Given the description of an element on the screen output the (x, y) to click on. 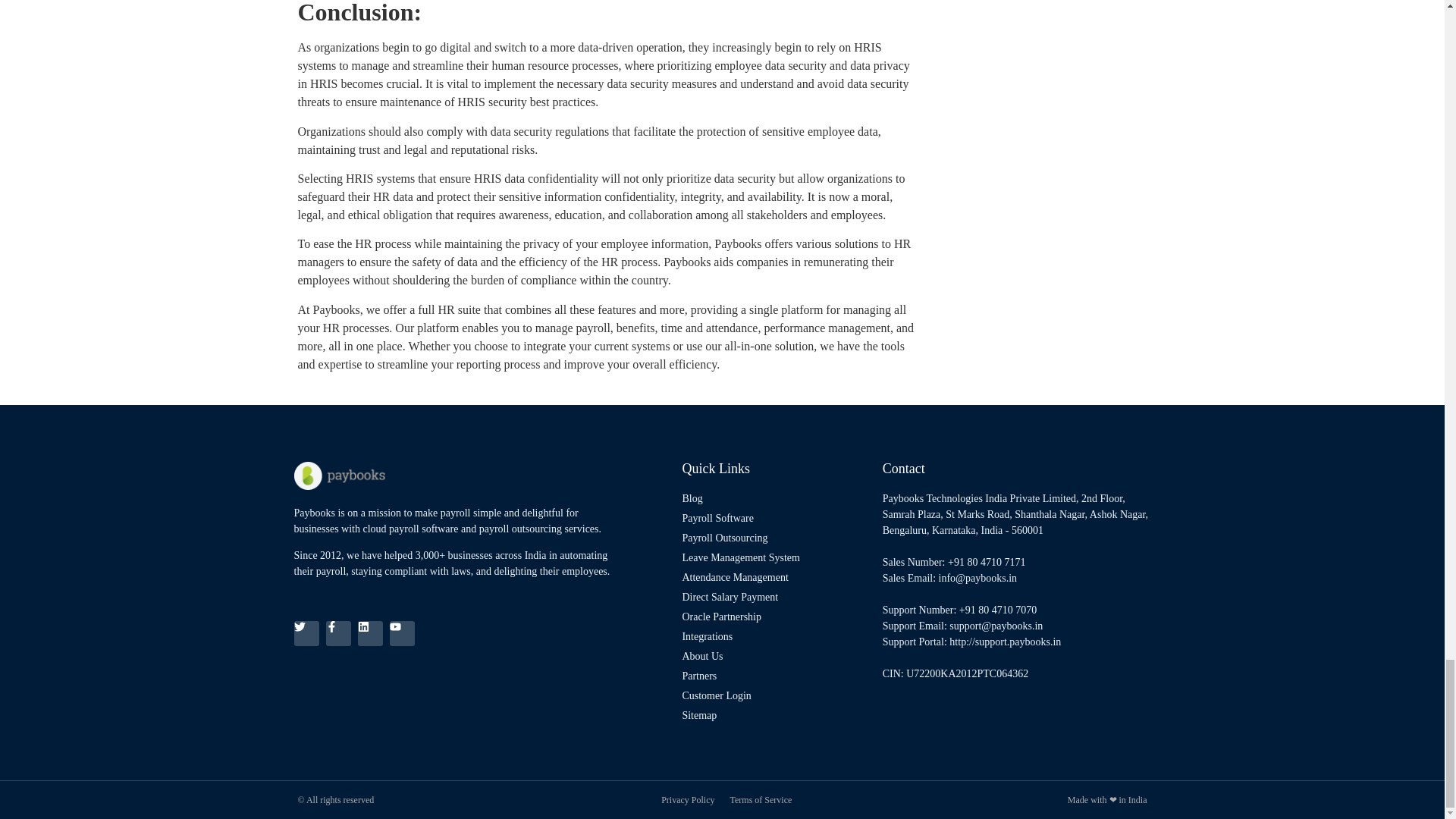
Privacy Policy (687, 799)
Oracle Partnership (778, 616)
Sitemap (778, 715)
Blog (778, 498)
Customer Login (778, 695)
Partners (778, 675)
Leave Management System (778, 557)
Attendance Management (778, 577)
Direct Salary Payment (778, 596)
Payroll Software (778, 518)
